Given the description of an element on the screen output the (x, y) to click on. 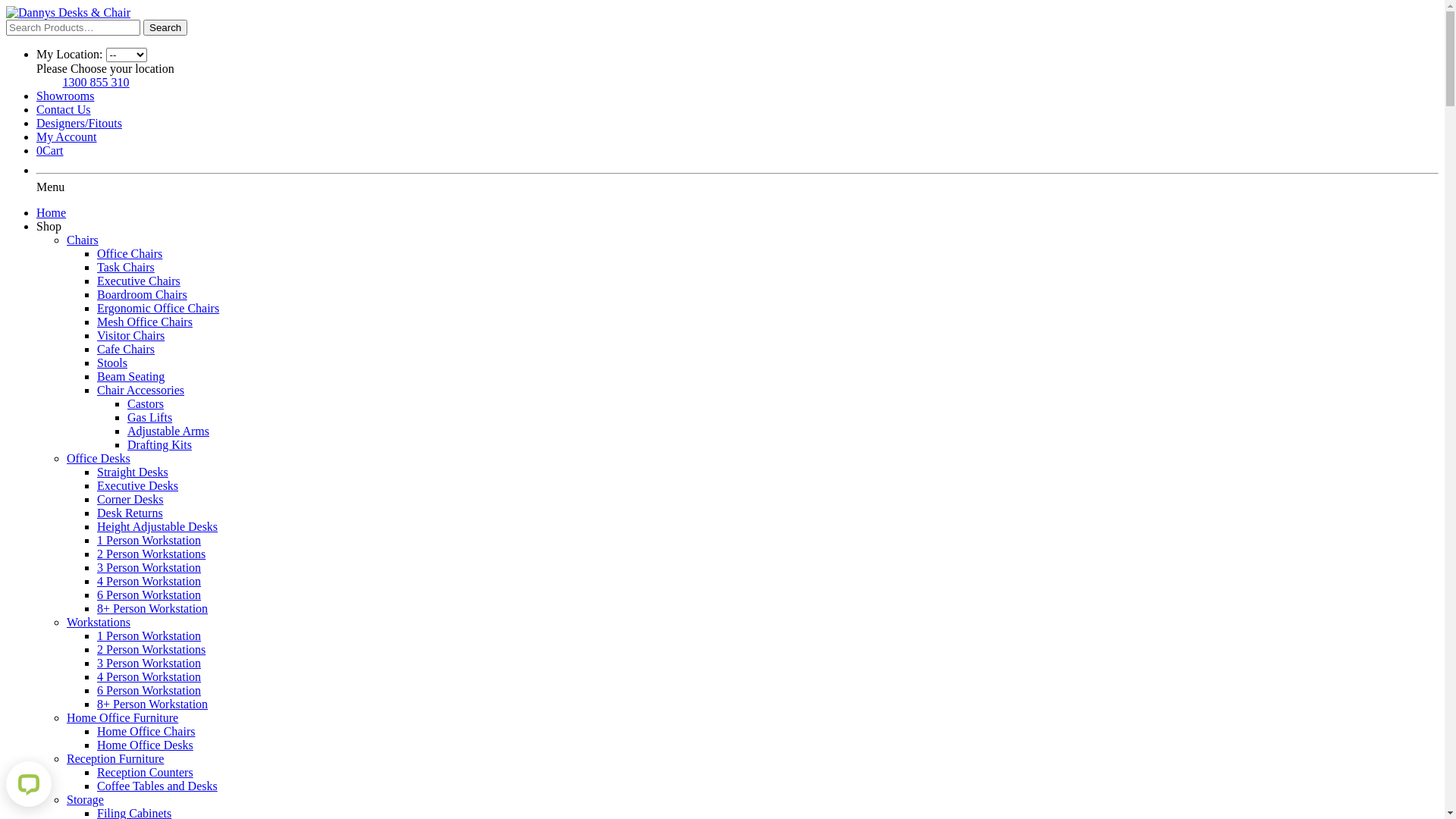
Executive Desks Element type: text (137, 485)
6 Person Workstation Element type: text (148, 594)
Task Chairs Element type: text (125, 266)
3 Person Workstation Element type: text (148, 567)
Desk Returns Element type: text (130, 512)
1300 855 310 Element type: text (95, 81)
Home Element type: text (50, 212)
1 Person Workstation Element type: text (148, 539)
Reception Counters Element type: text (145, 771)
Contact Us Element type: text (63, 109)
Coffee Tables and Desks Element type: text (157, 785)
Straight Desks Element type: text (132, 471)
Boardroom Chairs Element type: text (142, 294)
Beam Seating Element type: text (130, 376)
0Cart Element type: text (49, 150)
Height Adjustable Desks Element type: text (157, 526)
Showrooms Element type: text (65, 95)
Office Desks Element type: text (98, 457)
Mesh Office Chairs Element type: text (144, 321)
2 Person Workstations Element type: text (151, 649)
3 Person Workstation Element type: text (148, 662)
My Account Element type: text (66, 136)
Chair Accessories Element type: text (140, 389)
Drafting Kits Element type: text (159, 444)
Ergonomic Office Chairs Element type: text (158, 307)
2 Person Workstations Element type: text (151, 553)
8+ Person Workstation Element type: text (152, 608)
Castors Element type: text (145, 403)
Workstations Element type: text (98, 621)
Office Chairs Element type: text (129, 253)
Executive Chairs Element type: text (138, 280)
Search Element type: text (165, 27)
Reception Furniture Element type: text (114, 758)
Storage Element type: text (84, 799)
Cafe Chairs Element type: text (125, 348)
Chairs Element type: text (82, 239)
6 Person Workstation Element type: text (148, 690)
Stools Element type: text (112, 362)
4 Person Workstation Element type: text (148, 580)
Designers/Fitouts Element type: text (79, 122)
Home Office Furniture Element type: text (122, 717)
Search for: Element type: hover (73, 27)
Adjustable Arms Element type: text (168, 430)
Visitor Chairs Element type: text (130, 335)
4 Person Workstation Element type: text (148, 676)
Got it Element type: text (49, 82)
1 Person Workstation Element type: text (148, 635)
Gas Lifts Element type: text (149, 417)
Shop Element type: text (48, 225)
Home Office Chairs Element type: text (145, 730)
Home Office Desks Element type: text (145, 744)
Corner Desks Element type: text (130, 498)
8+ Person Workstation Element type: text (152, 703)
